Given the description of an element on the screen output the (x, y) to click on. 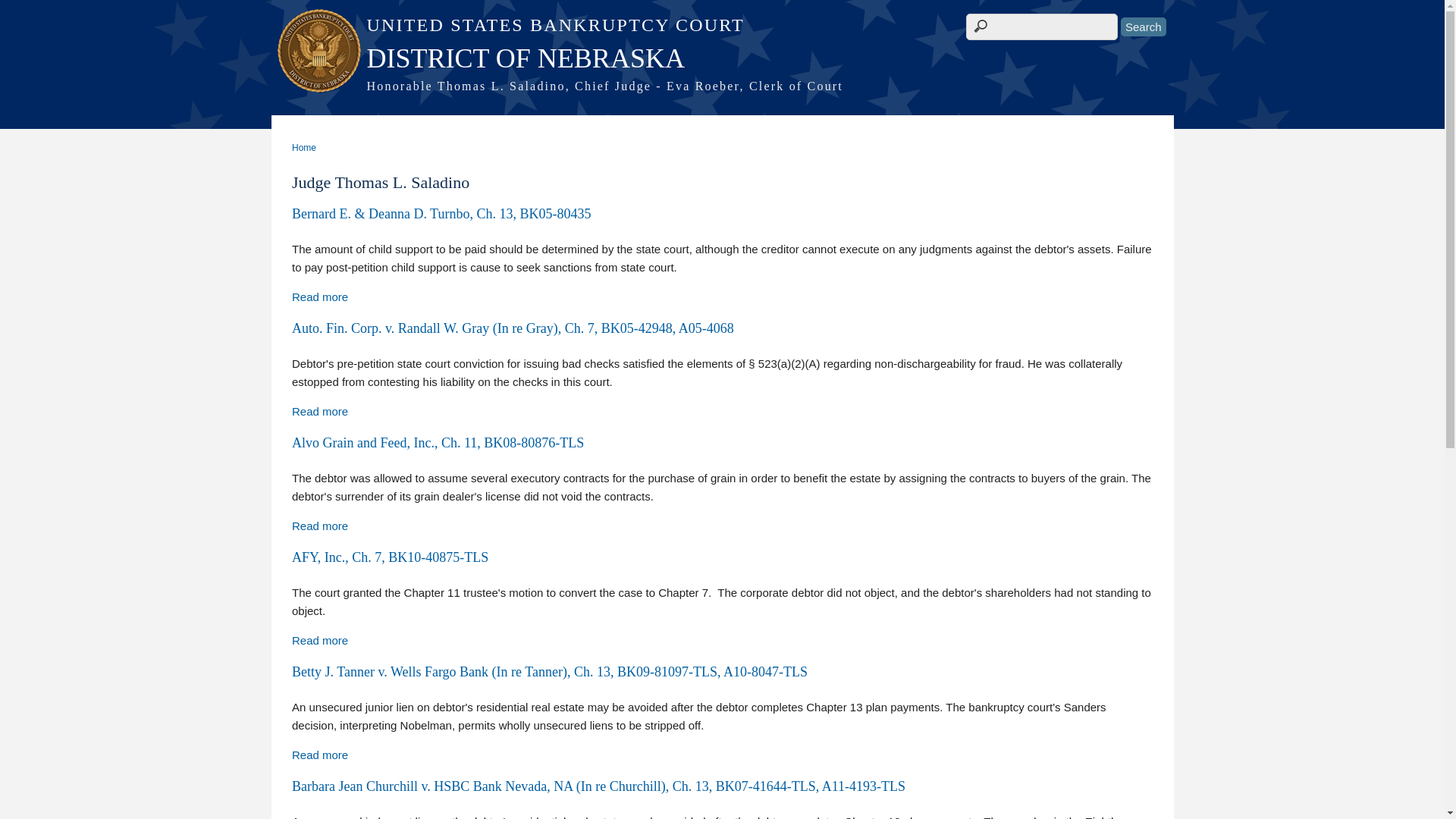
AFY, Inc., Ch. 7, BK10-40875-TLS (319, 640)
Alvo Grain and Feed, Inc., Ch. 11, BK08-80876-TLS (319, 525)
Search (1143, 26)
DISTRICT OF NEBRASKA (721, 57)
Home (721, 57)
Search (1143, 26)
Home (721, 25)
UNITED STATES BANKRUPTCY COURT (721, 25)
Enter the terms you wish to search for. (1042, 26)
Home (721, 86)
